Given the description of an element on the screen output the (x, y) to click on. 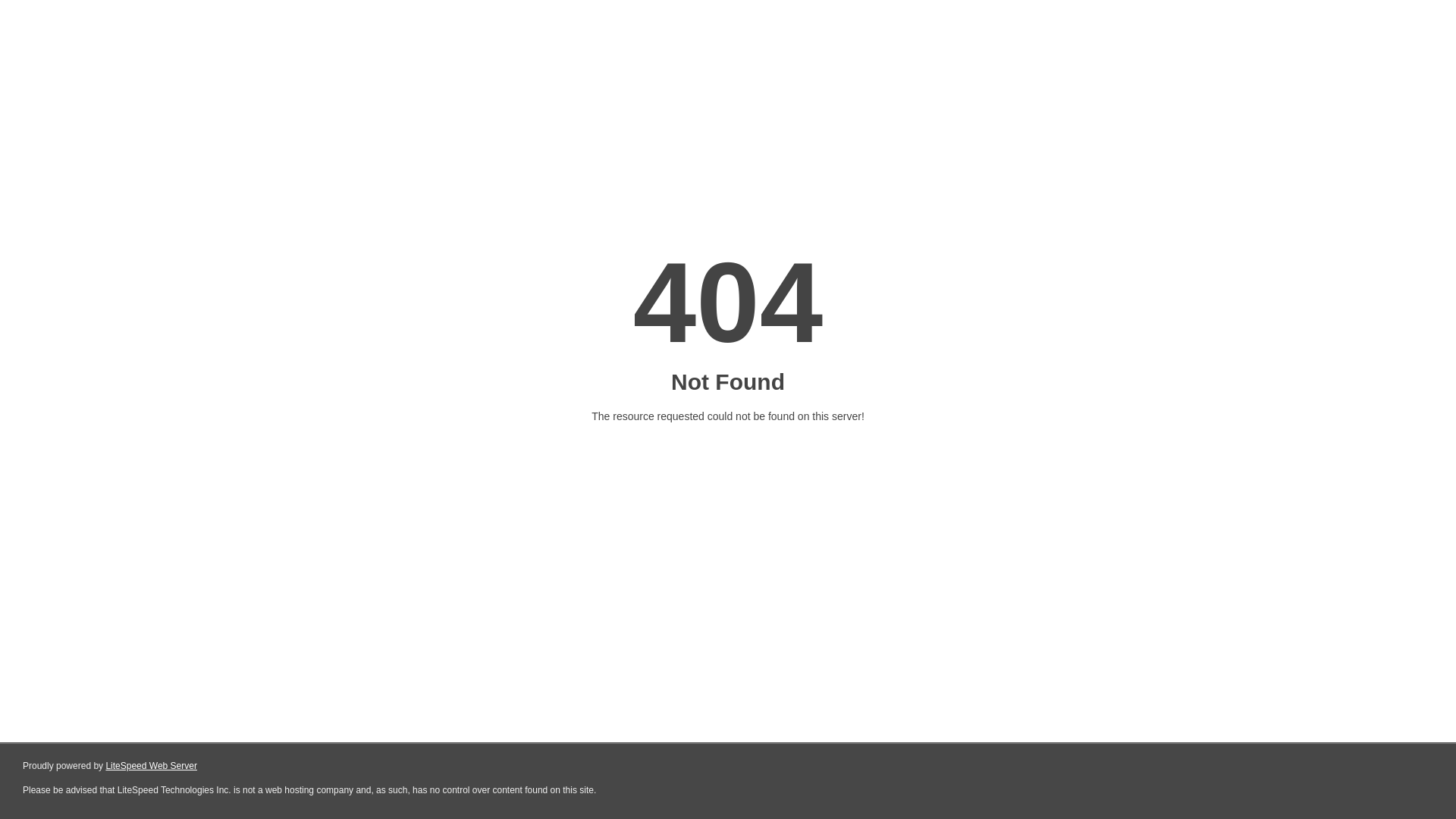
LiteSpeed Web Server Element type: text (151, 765)
